Given the description of an element on the screen output the (x, y) to click on. 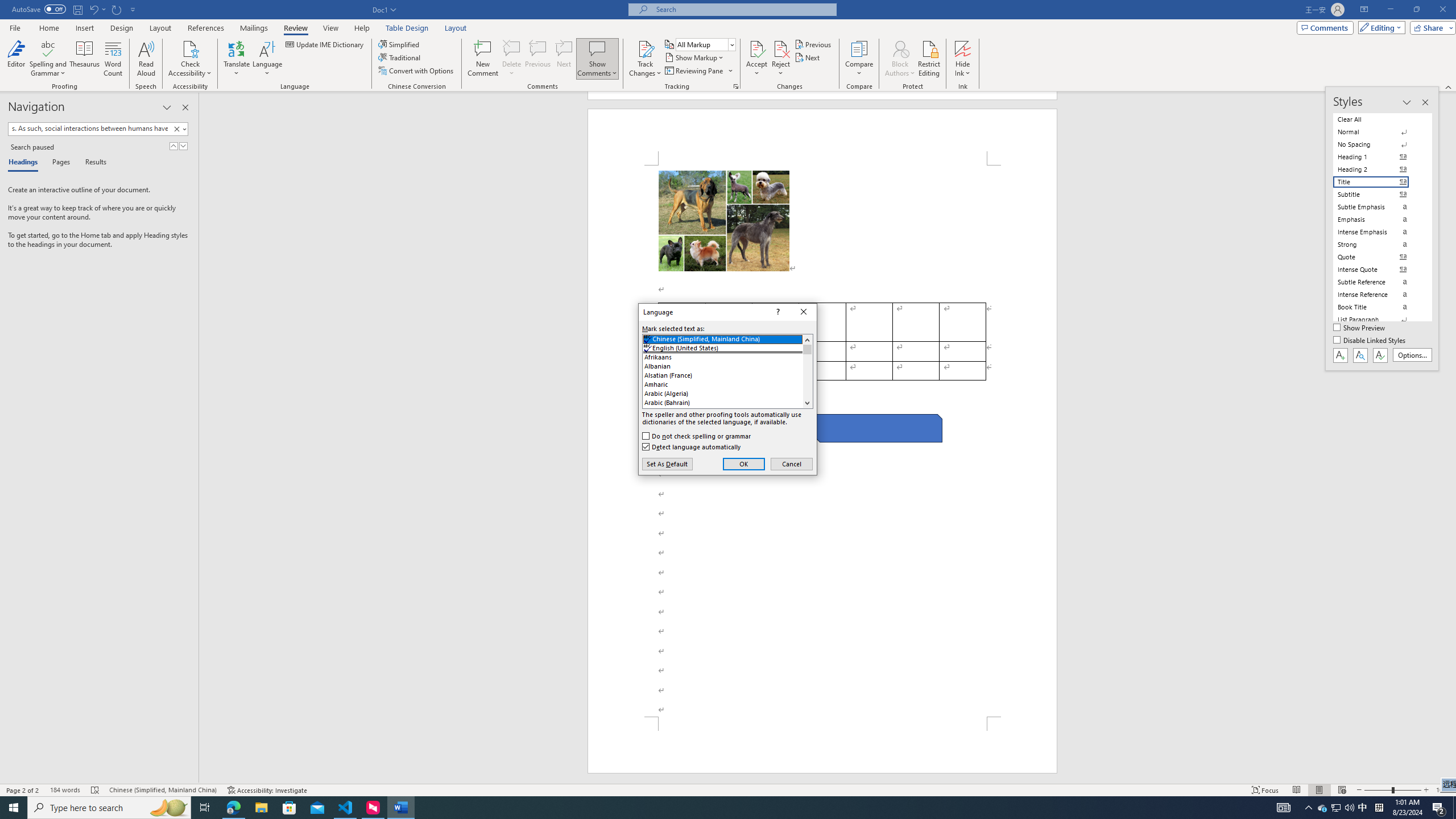
Undo Style (92, 9)
Word Count 184 words (64, 790)
Tray Input Indicator - Chinese (Simplified, China) (1378, 807)
Disable Linked Styles (1370, 340)
Reviewing Pane (698, 69)
